Given the description of an element on the screen output the (x, y) to click on. 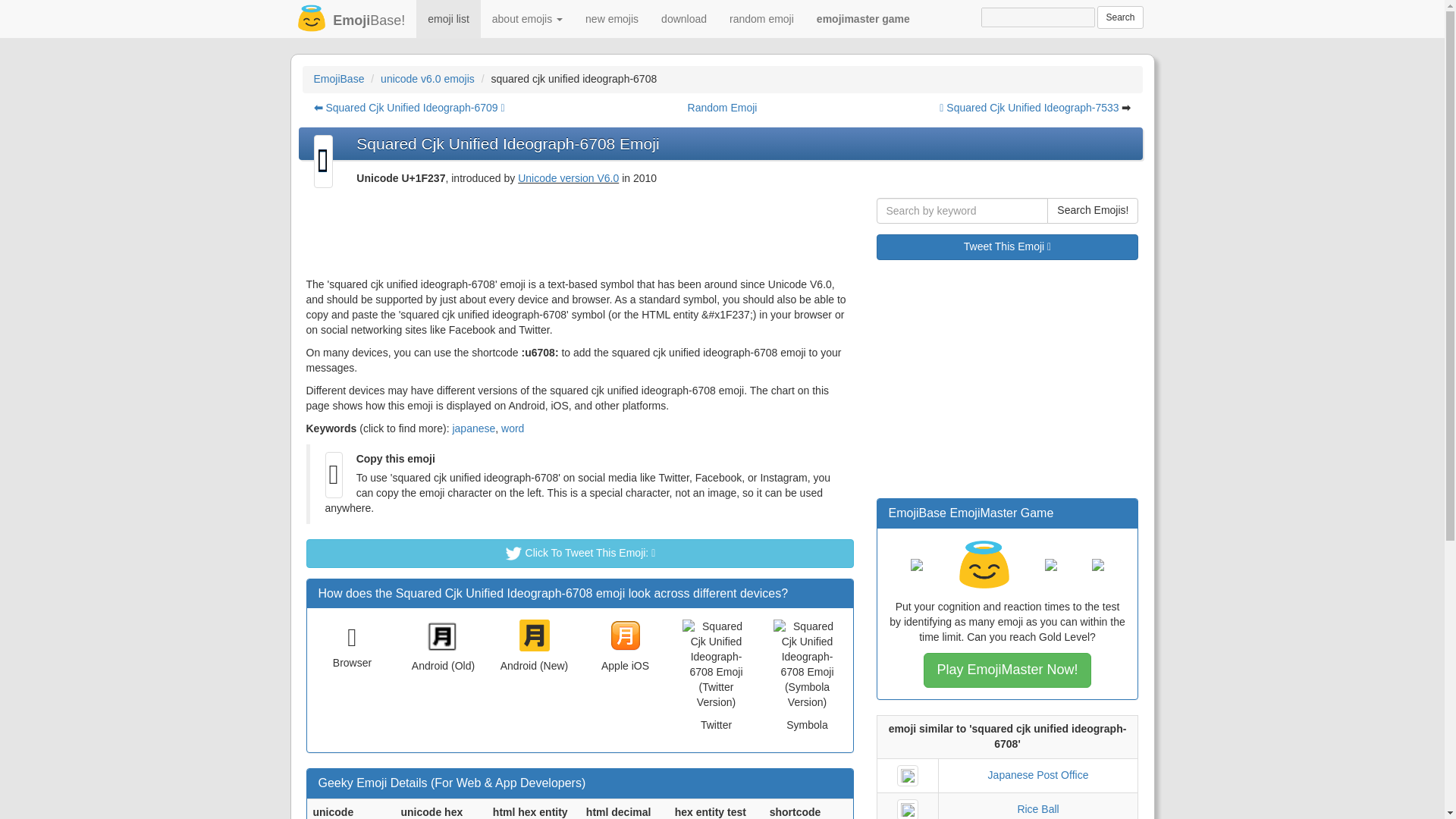
emoji list (448, 18)
Unicode version V6.0 (568, 177)
Random Emoji (722, 107)
Search (1119, 16)
download (683, 18)
new emojis (611, 18)
Rice Ball (1037, 808)
random emoji (761, 18)
EmojiBase! (347, 18)
Search Emojis! (1092, 210)
